Given the description of an element on the screen output the (x, y) to click on. 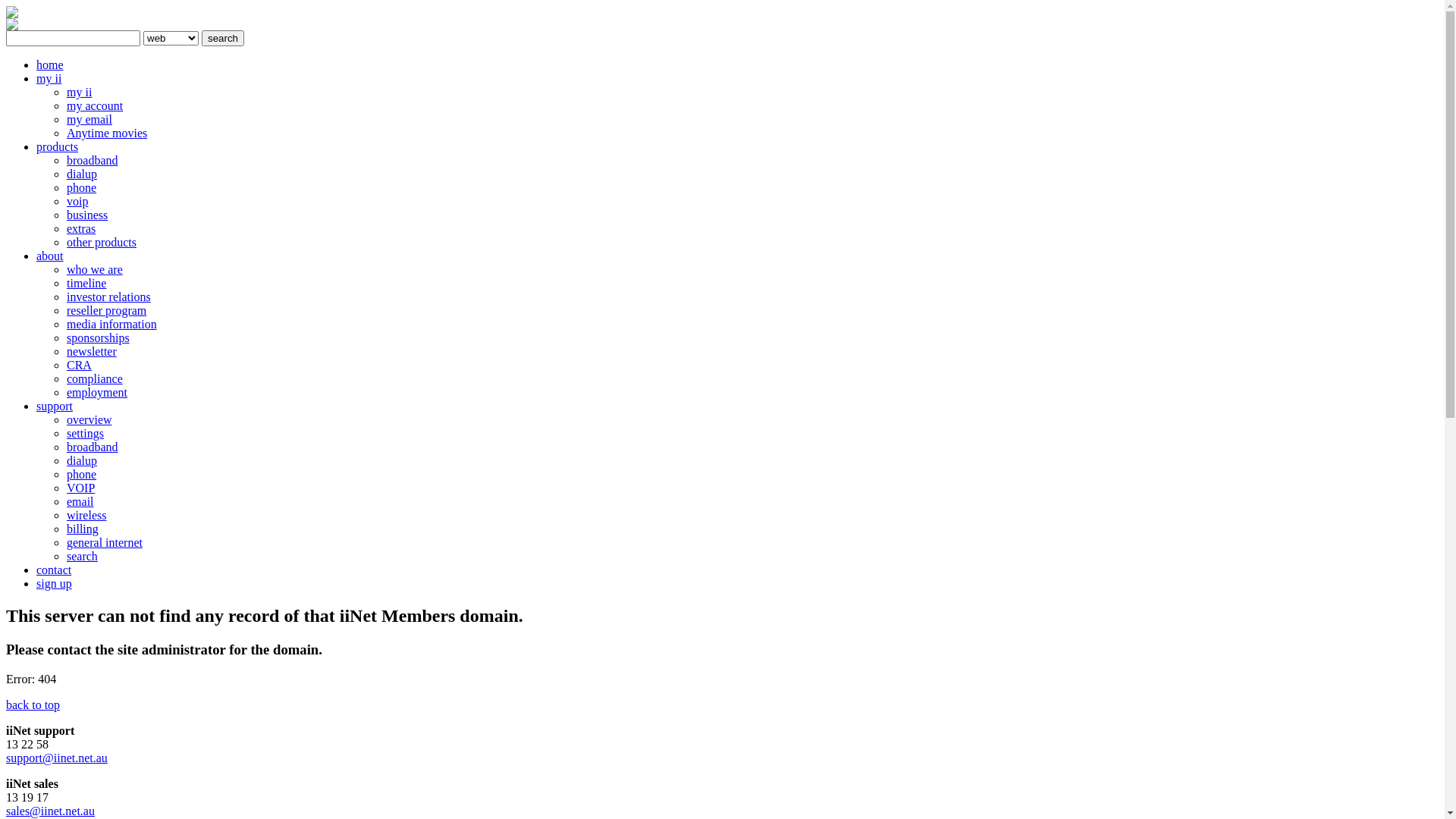
other products Element type: text (101, 241)
CRA Element type: text (78, 364)
overview Element type: text (89, 419)
my email Element type: text (89, 118)
media information Element type: text (111, 323)
phone Element type: text (81, 473)
email Element type: text (80, 501)
support Element type: text (54, 405)
VOIP Element type: text (80, 487)
about Element type: text (49, 255)
products Element type: text (57, 146)
Anytime movies Element type: text (106, 132)
settings Element type: text (84, 432)
extras Element type: text (80, 228)
compliance Element type: text (94, 378)
home Element type: text (49, 64)
my ii Element type: text (48, 78)
my ii Element type: text (78, 91)
billing Element type: text (82, 528)
broadband Element type: text (92, 446)
my account Element type: text (94, 105)
wireless Element type: text (86, 514)
investor relations Element type: text (108, 296)
phone Element type: text (81, 187)
general internet Element type: text (104, 542)
dialup Element type: text (81, 173)
who we are Element type: text (94, 269)
timeline Element type: text (86, 282)
reseller program Element type: text (106, 310)
support@iinet.net.au Element type: text (56, 757)
business Element type: text (86, 214)
back to top Element type: text (32, 704)
voip Element type: text (76, 200)
sponsorships Element type: text (97, 337)
contact Element type: text (53, 569)
sign up Element type: text (54, 583)
newsletter Element type: text (91, 351)
employment Element type: text (96, 391)
dialup Element type: text (81, 460)
broadband Element type: text (92, 159)
sales@iinet.net.au Element type: text (50, 810)
search Element type: text (81, 555)
search Element type: text (222, 38)
